Given the description of an element on the screen output the (x, y) to click on. 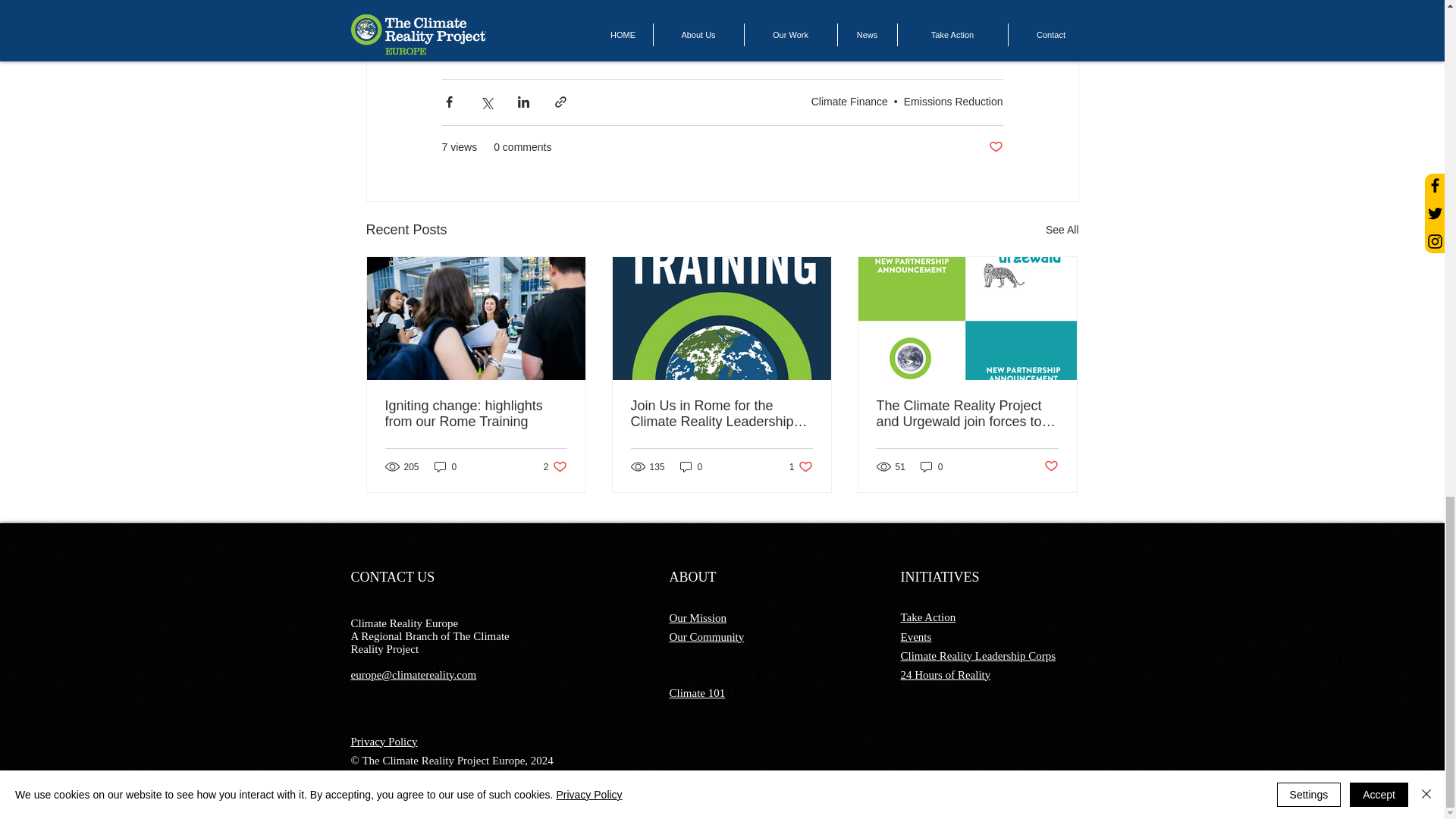
Climate Reality Leadership Corps (979, 655)
0 (931, 466)
Events (916, 636)
Climate 101 (696, 693)
Emissions Reduction (953, 101)
0 (691, 466)
Our Community (706, 636)
Post not marked as liked (995, 147)
Our Mission (696, 617)
